Given the description of an element on the screen output the (x, y) to click on. 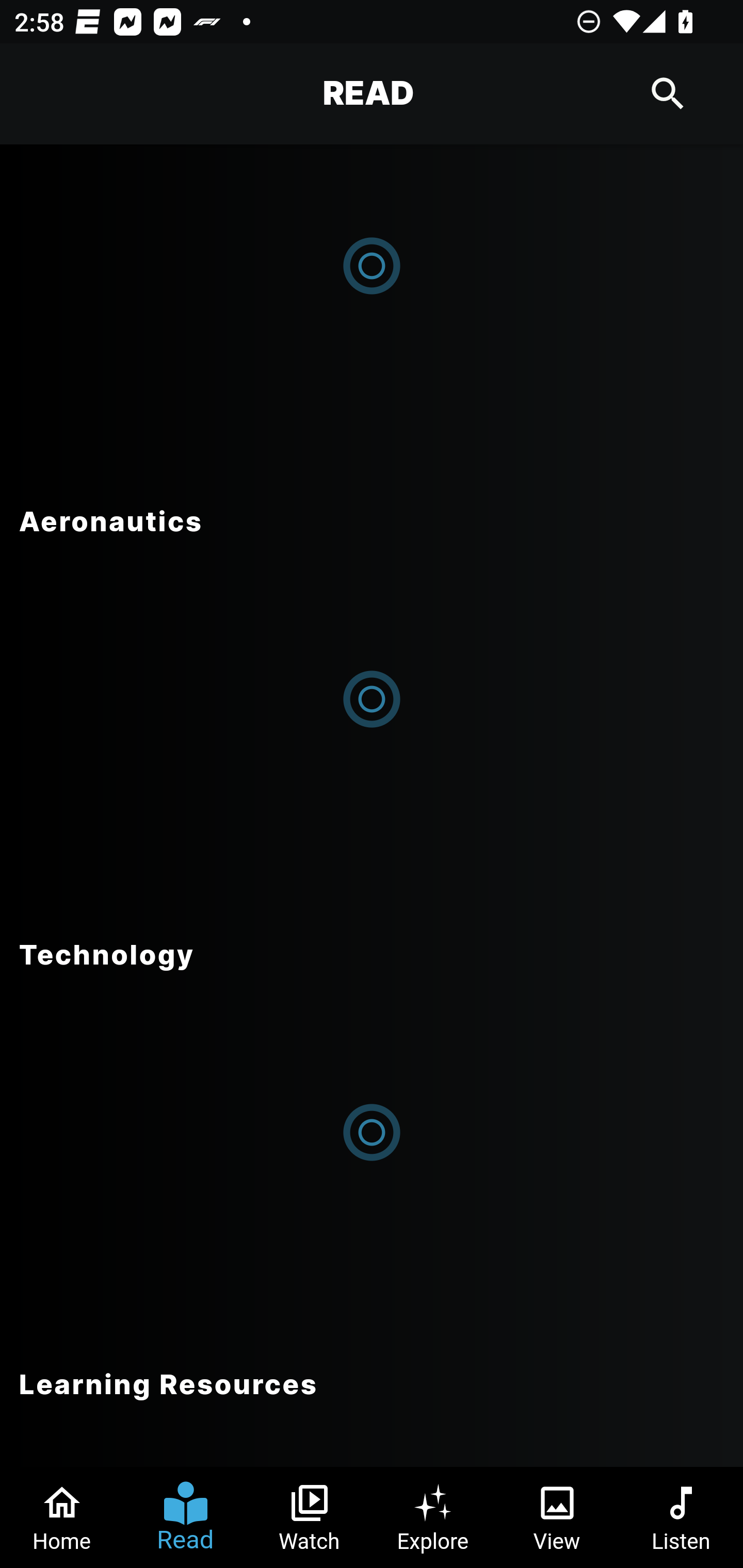
Home
Tab 1 of 6 (62, 1517)
Read
Tab 2 of 6 (185, 1517)
Watch
Tab 3 of 6 (309, 1517)
Explore
Tab 4 of 6 (433, 1517)
View
Tab 5 of 6 (556, 1517)
Listen
Tab 6 of 6 (680, 1517)
